Given the description of an element on the screen output the (x, y) to click on. 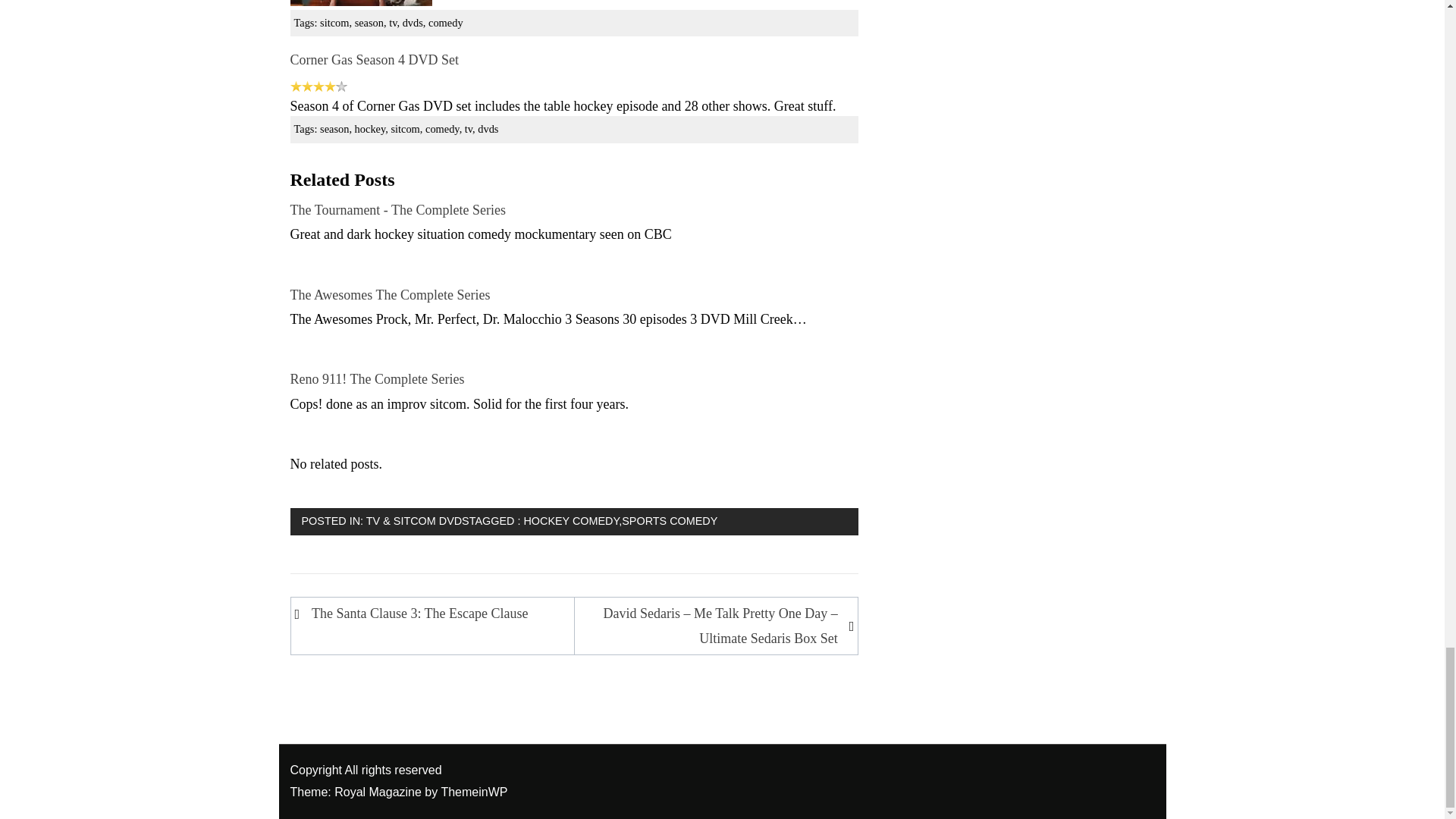
SPORTS COMEDY (669, 521)
Reno 911! The Complete Series (376, 378)
The Tournament - The Complete Series (397, 209)
The New Adventures of Old Christine (359, 2)
The Awesomes The Complete Series (389, 294)
HOCKEY COMEDY (570, 521)
Corner Gas Season 4 DVD Set (373, 59)
Corner Gas Season 4 DVD Set (373, 59)
The Santa Clause 3: The Escape Clause (434, 613)
